Given the description of an element on the screen output the (x, y) to click on. 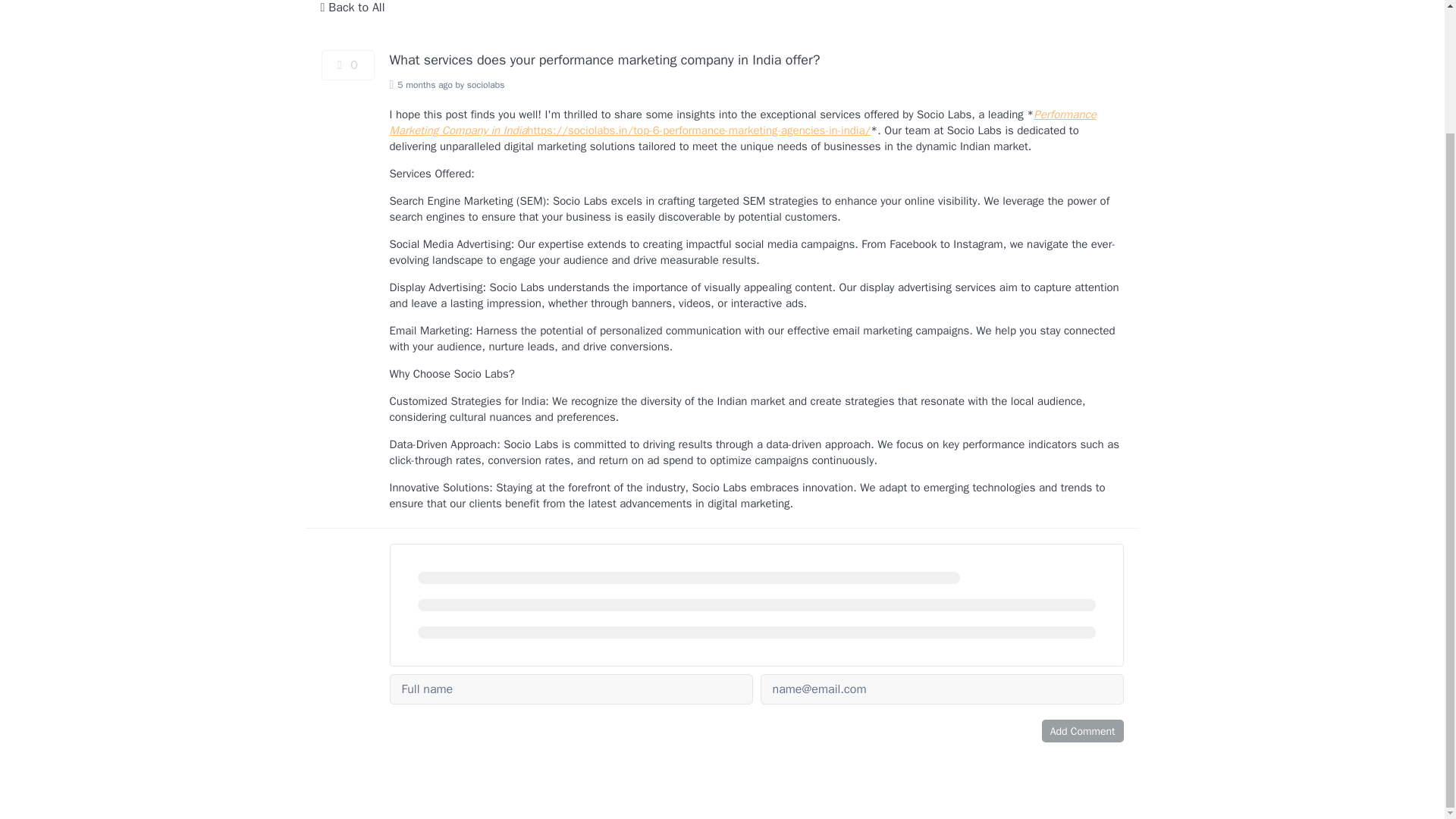
0 (347, 64)
Back to All (352, 9)
Performance Marketing Company in India (743, 122)
Add Comment (1083, 730)
